Given the description of an element on the screen output the (x, y) to click on. 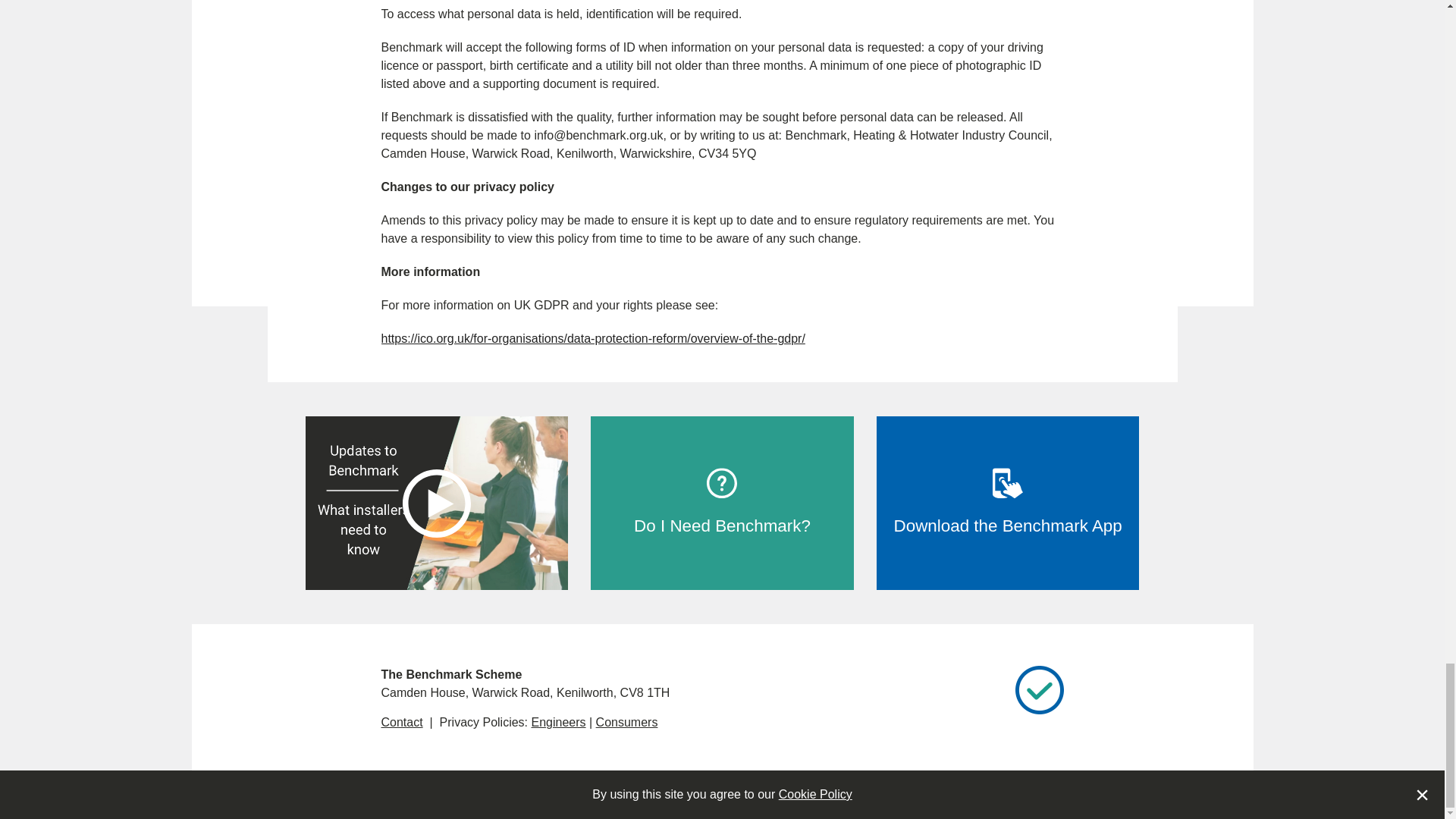
Consumers (626, 721)
Do I Need Benchmark? (722, 502)
Contact (401, 721)
Engineers (558, 721)
Download the Benchmark App (1008, 502)
